Given the description of an element on the screen output the (x, y) to click on. 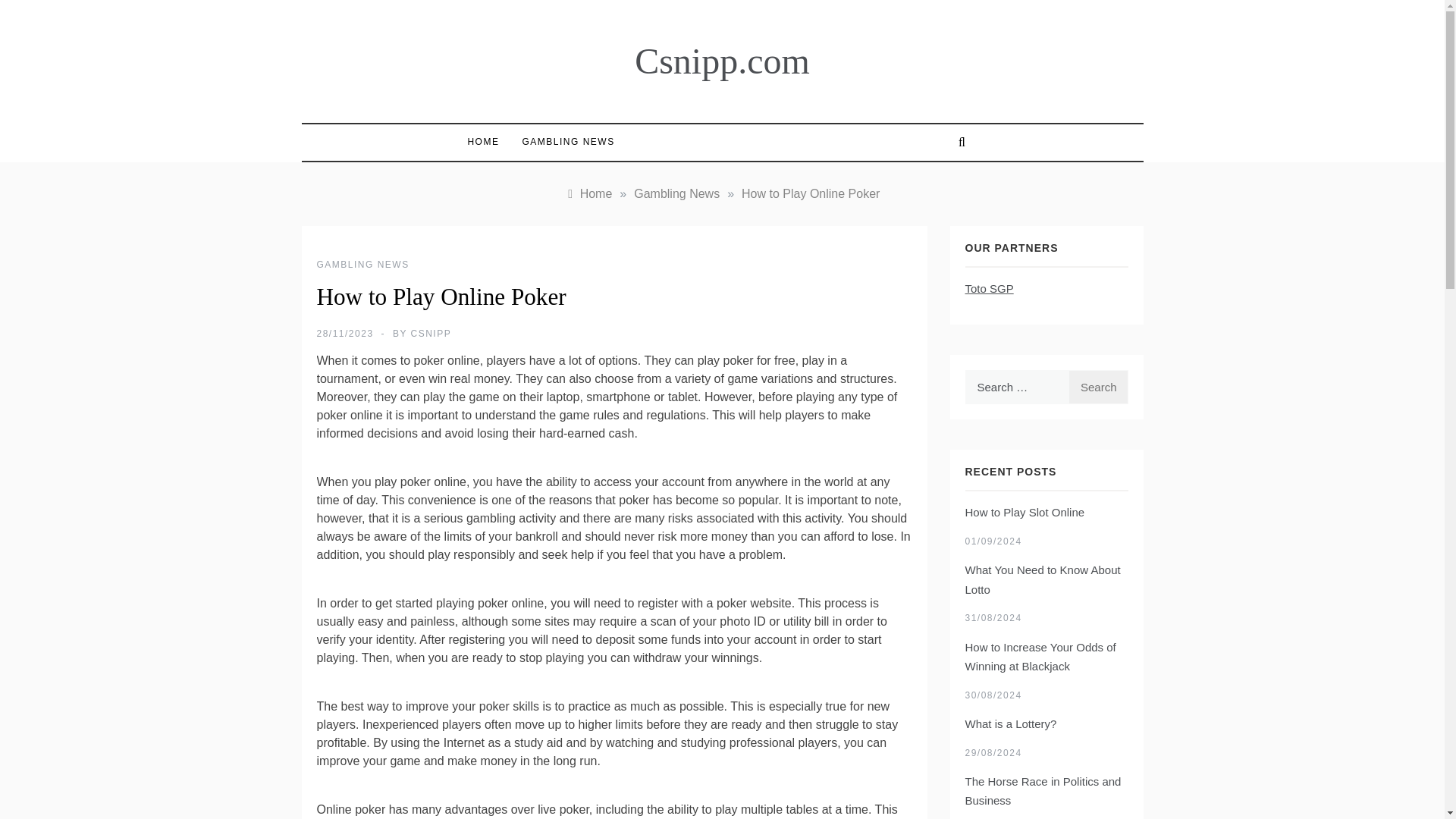
Home (588, 193)
HOME (486, 141)
CSNIPP (430, 333)
Search (1098, 387)
Search (1098, 387)
How to Play Slot Online (1023, 512)
Gambling News (676, 193)
The Horse Race in Politics and Business (1042, 790)
What is a Lottery? (1010, 723)
Csnipp.com (721, 60)
